Given the description of an element on the screen output the (x, y) to click on. 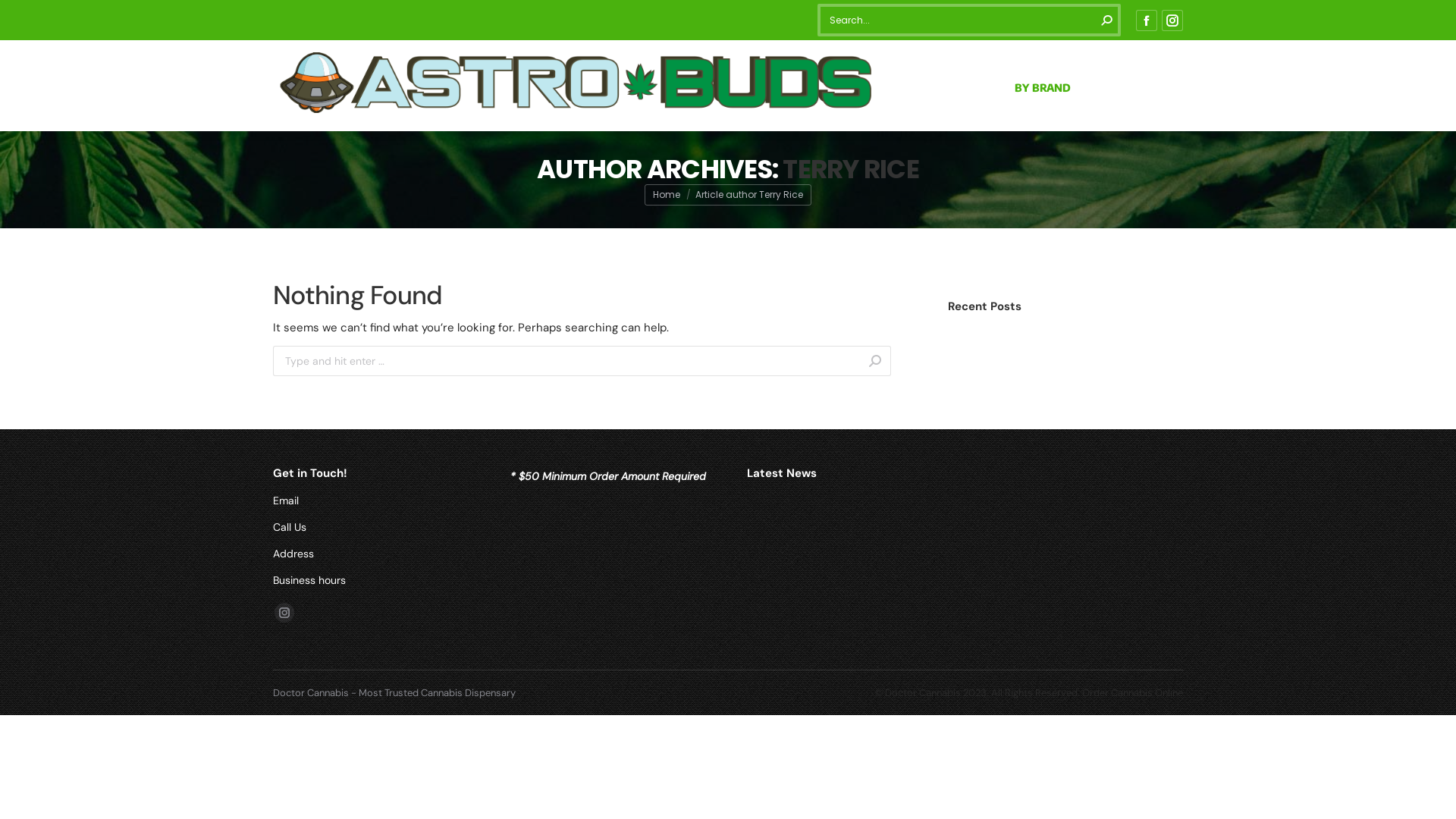
Go! Element type: text (24, 16)
Go! Element type: text (915, 362)
Instagram page opens in new window Element type: text (284, 612)
BY BRAND Element type: text (1042, 84)
Facebook page opens in new window Element type: text (1146, 19)
Home Element type: text (666, 194)
Search form Element type: hover (968, 19)
TERRY RICE Element type: text (850, 168)
Instagram page opens in new window Element type: text (1172, 19)
